Given the description of an element on the screen output the (x, y) to click on. 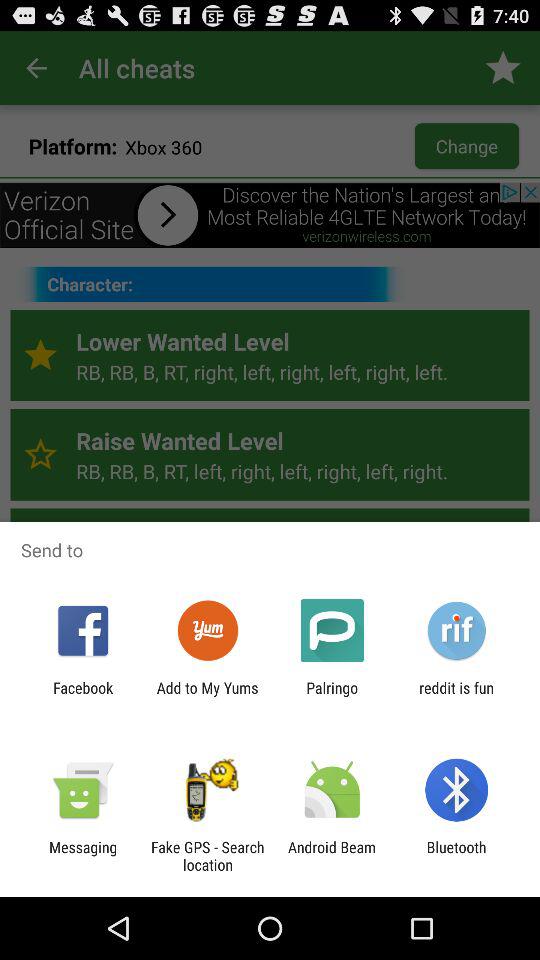
turn on android beam icon (332, 856)
